Given the description of an element on the screen output the (x, y) to click on. 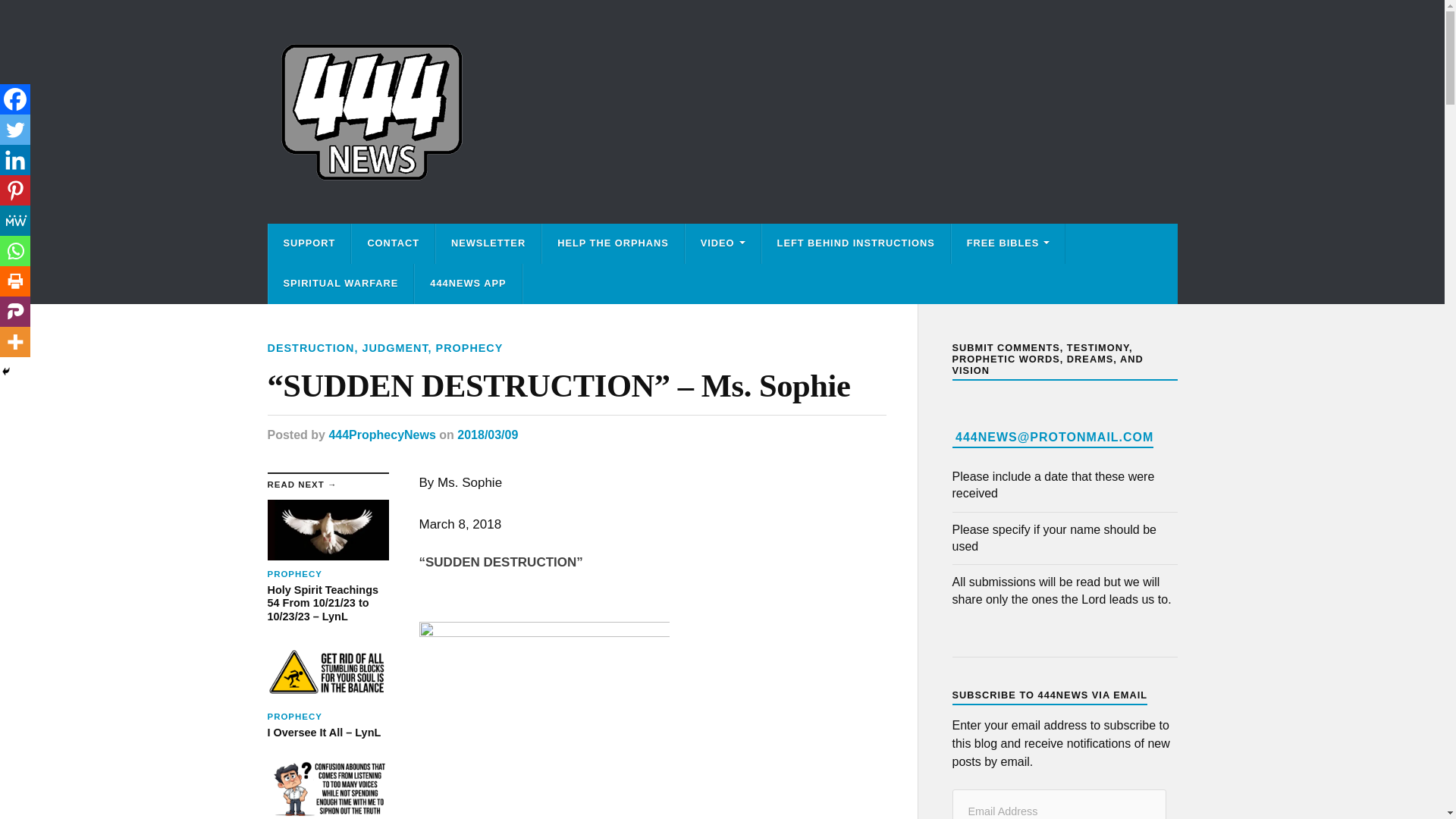
SUPPORT (308, 243)
444ProphecyNews (382, 434)
LEFT BEHIND INSTRUCTIONS (855, 243)
JUDGMENT (394, 347)
VIDEO (722, 243)
HELP THE ORPHANS (612, 243)
DESTRUCTION (309, 347)
444NEWS APP (467, 283)
CONTACT (392, 243)
SPIRITUAL WARFARE (340, 283)
NEWSLETTER (487, 243)
PROPHECY (469, 347)
FREE BIBLES (1008, 243)
